Given the description of an element on the screen output the (x, y) to click on. 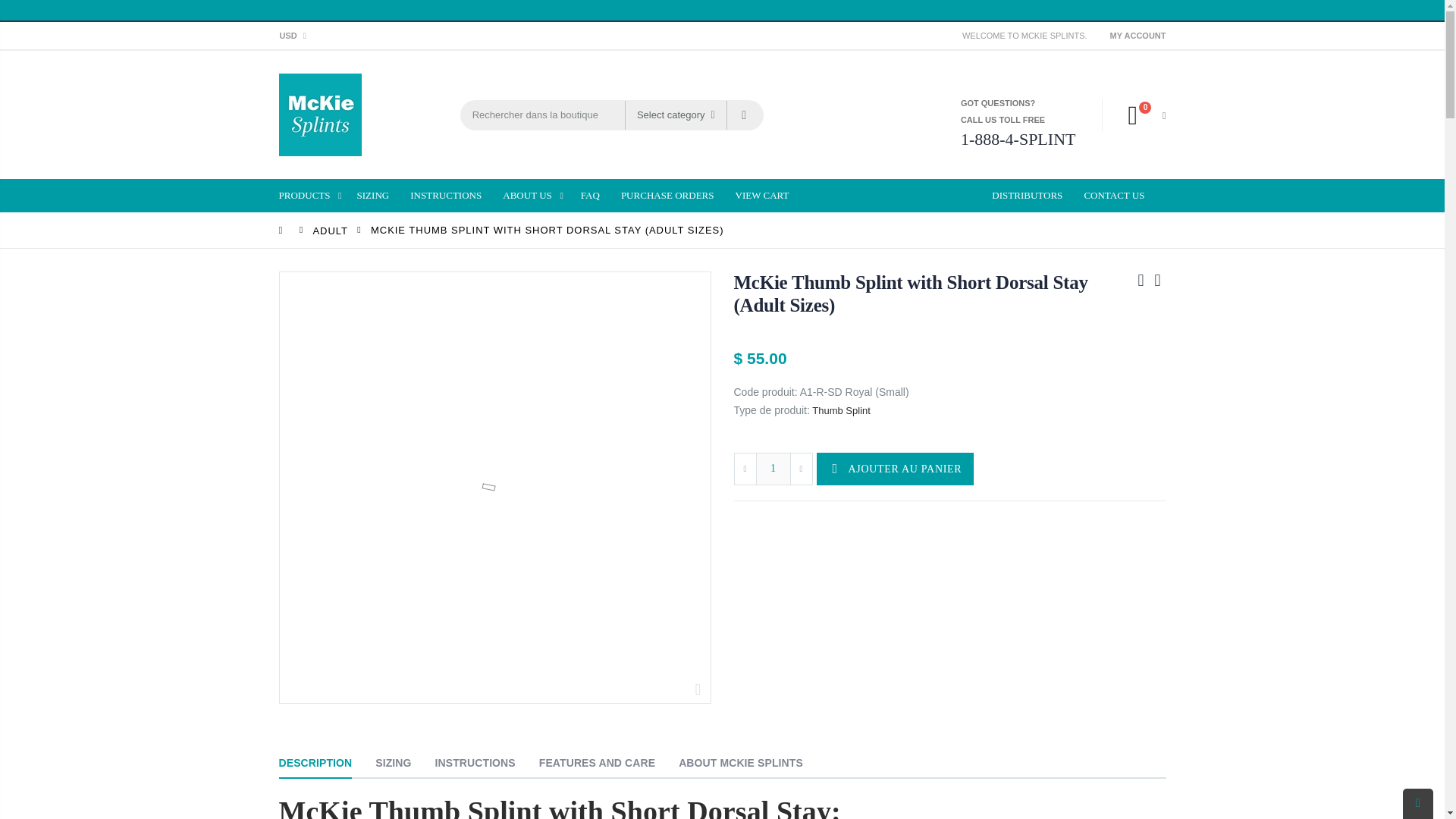
MY ACCOUNT (1137, 35)
Select category (676, 113)
Next Product (1158, 280)
ABOUT US (536, 195)
CONTACT US (1119, 195)
Select category (675, 113)
Previous Product (1141, 280)
USD (296, 35)
FAQ (595, 195)
1 (772, 468)
0 (1139, 114)
Recherche (743, 113)
DISTRIBUTORS (1032, 195)
PRODUCTS (314, 195)
SIZING (378, 195)
